Given the description of an element on the screen output the (x, y) to click on. 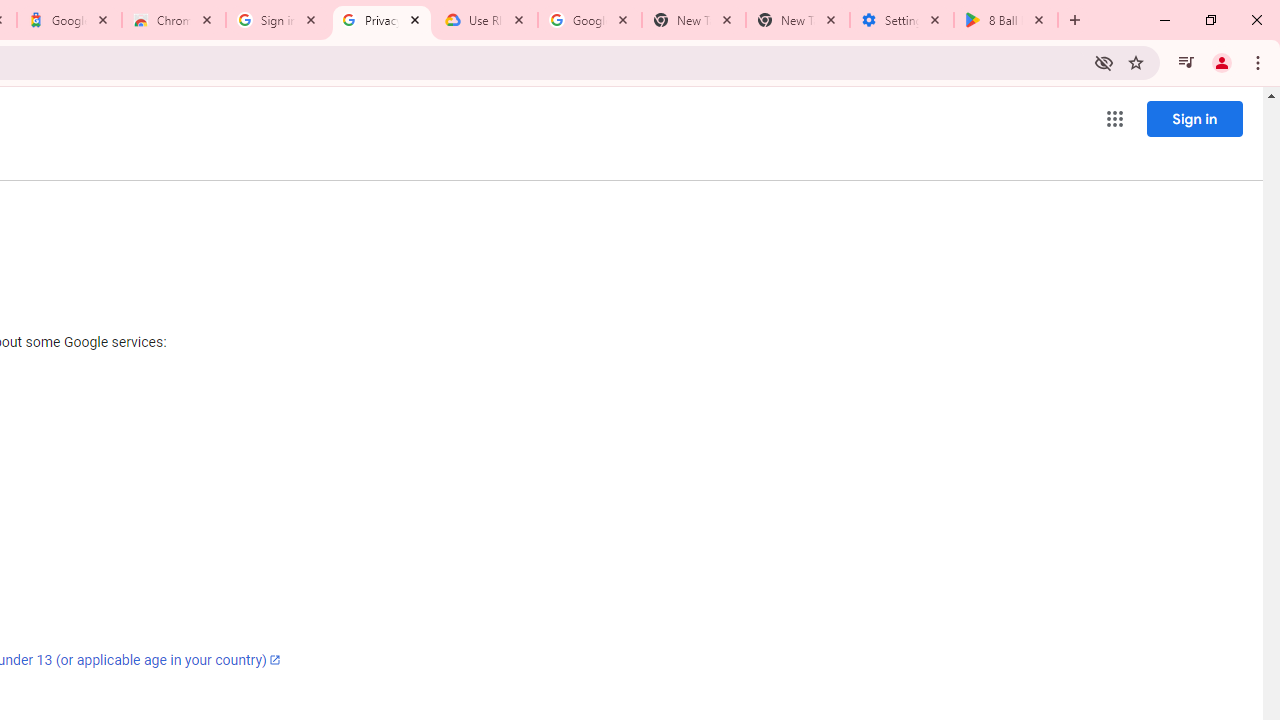
Google (68, 20)
Sign in - Google Accounts (278, 20)
Settings - System (901, 20)
Chrome Web Store - Color themes by Chrome (173, 20)
